Given the description of an element on the screen output the (x, y) to click on. 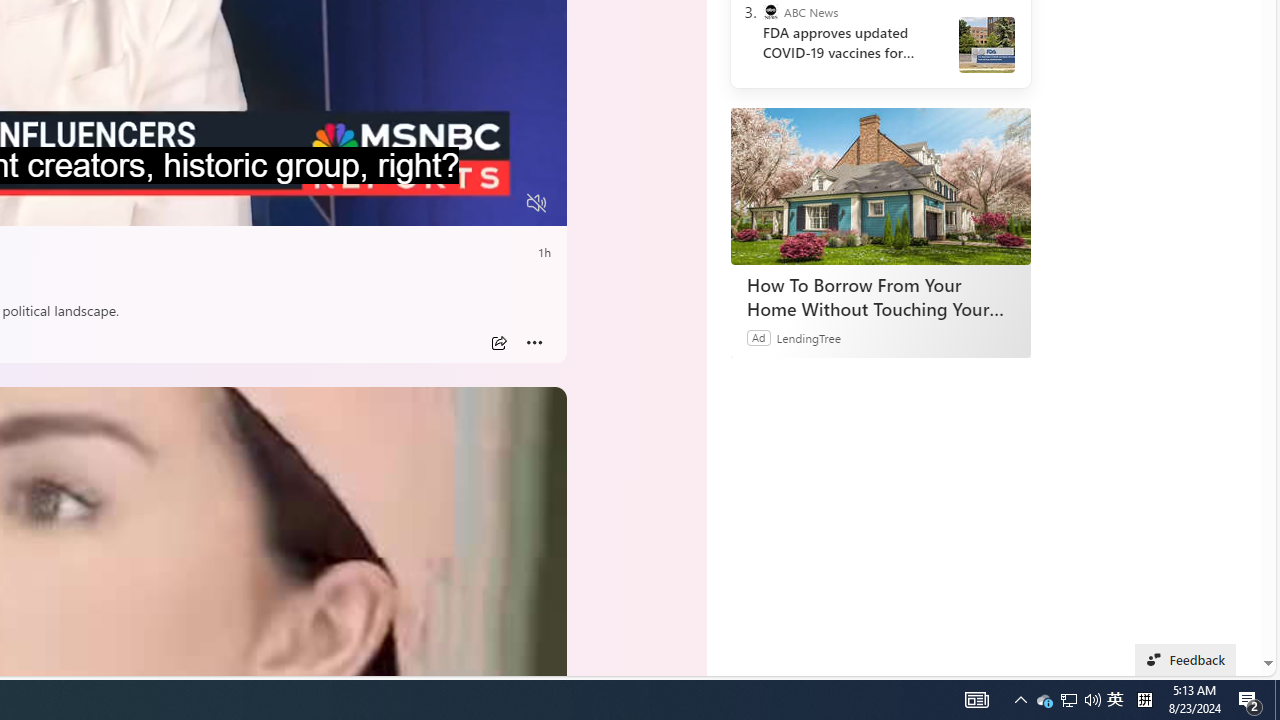
LendingTree (807, 337)
ABC News (770, 12)
Class: at-item inline-watch (534, 343)
How To Borrow From Your Home Without Touching Your Mortgage (879, 186)
Quality Settings (418, 203)
More (534, 343)
Share (498, 343)
Fullscreen (497, 203)
How To Borrow From Your Home Without Touching Your Mortgage (880, 296)
Captions (457, 203)
